Given the description of an element on the screen output the (x, y) to click on. 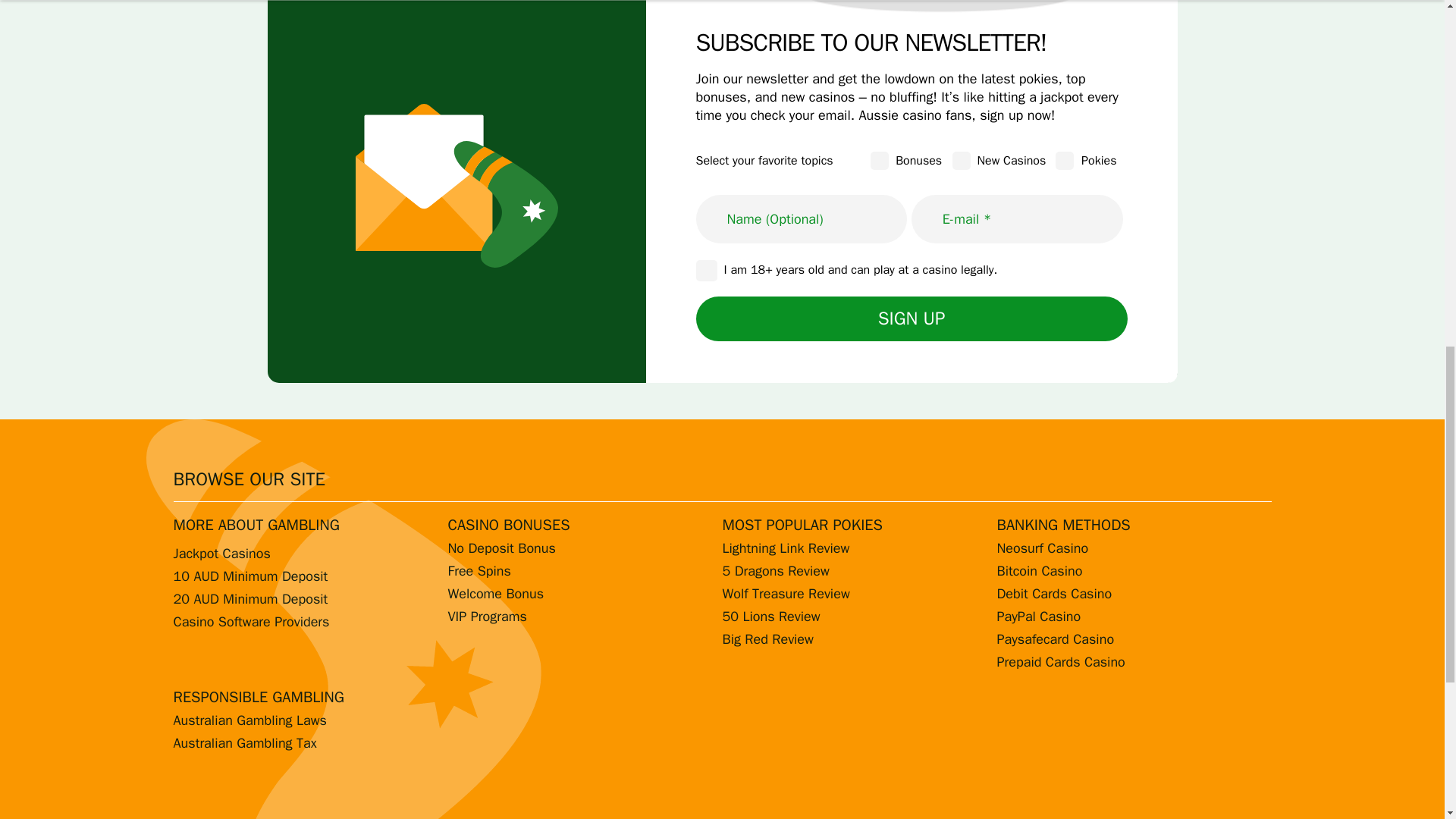
Sign Up (910, 318)
